Given the description of an element on the screen output the (x, y) to click on. 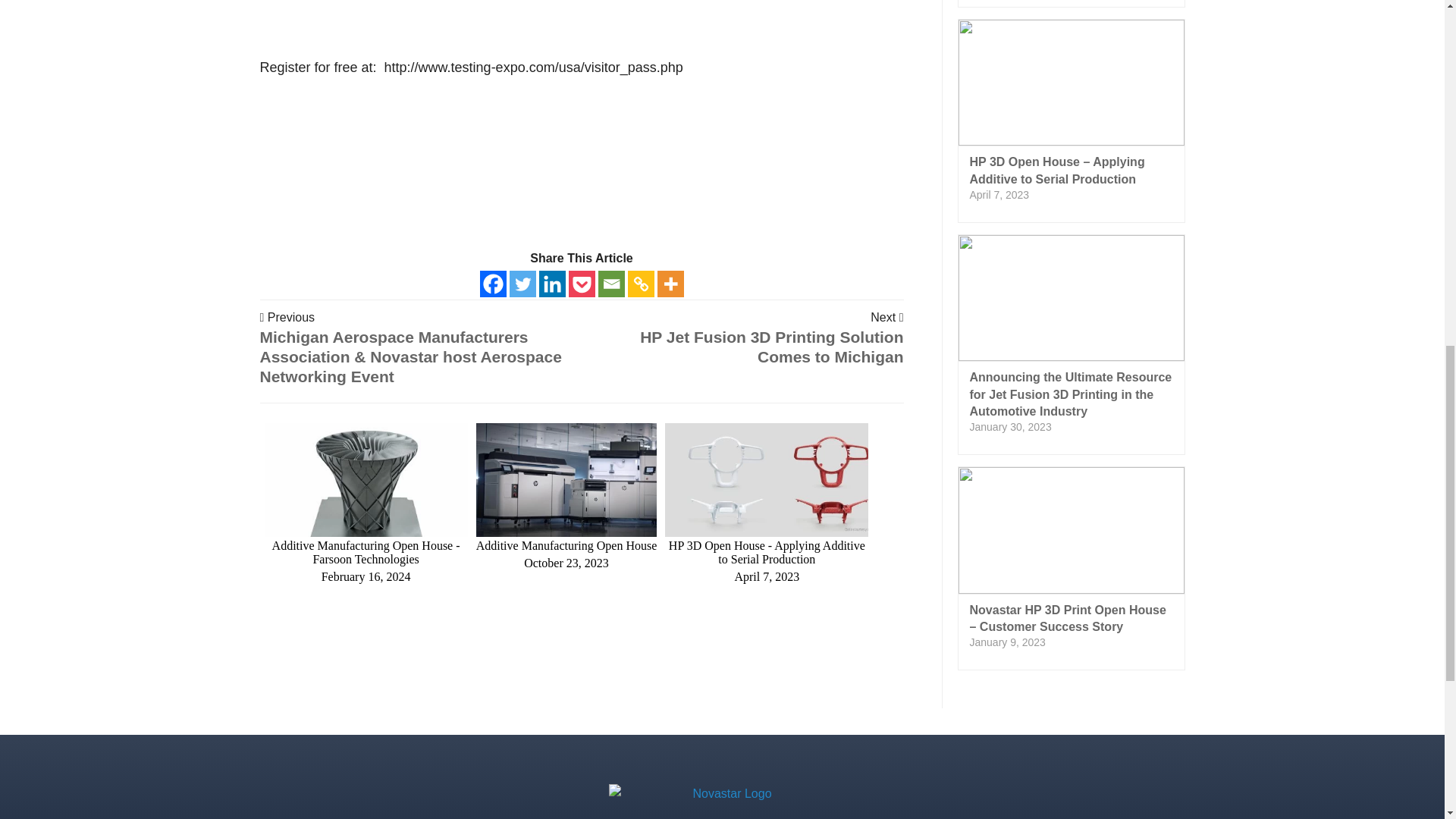
Pocket (582, 284)
Email (610, 284)
Facebook (492, 284)
Twitter (522, 284)
Linkedin (551, 284)
More (669, 284)
Copy Link (640, 284)
